Given the description of an element on the screen output the (x, y) to click on. 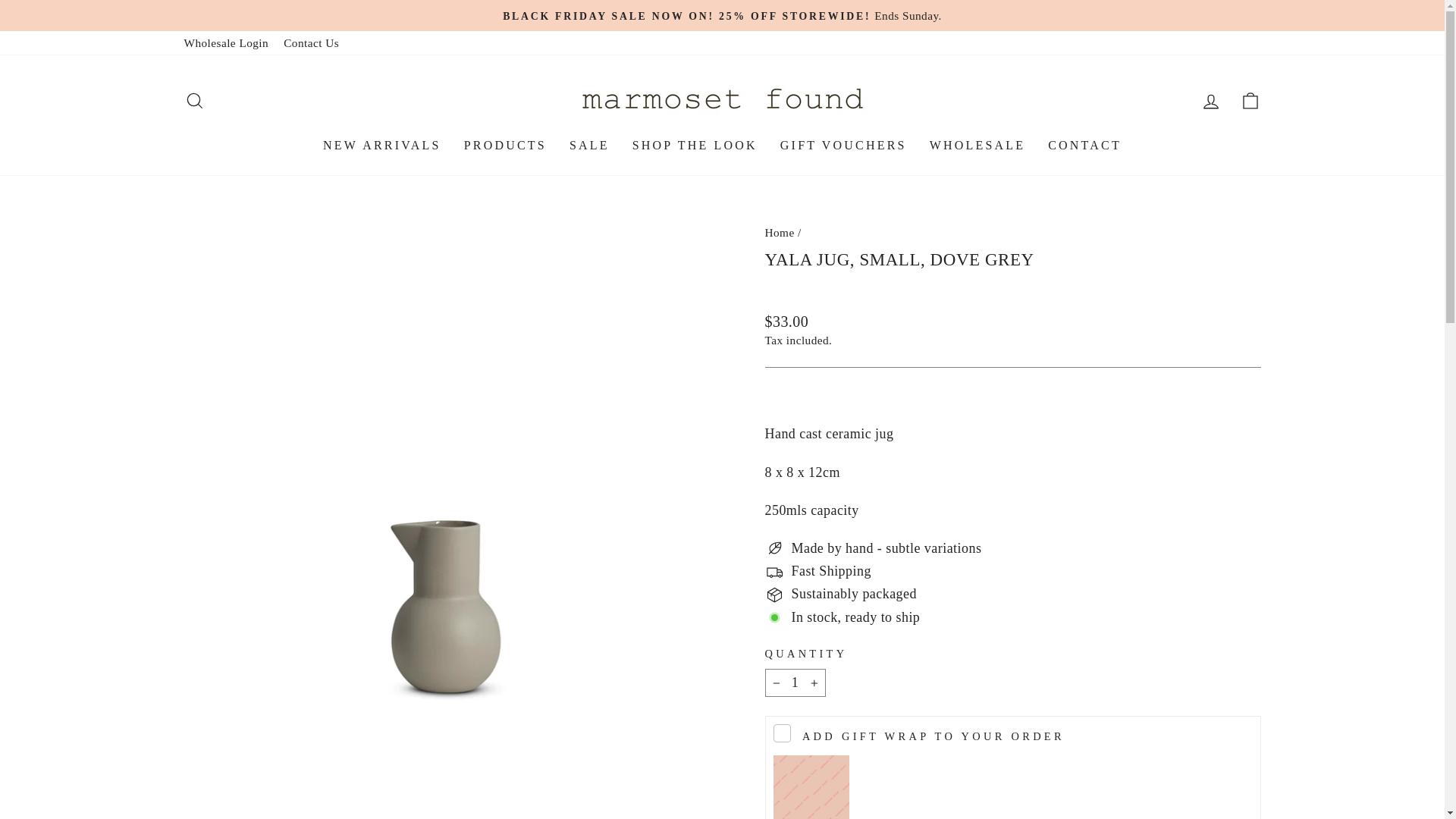
PRODUCTS Element type: text (505, 145)
GIFT VOUCHERS Element type: text (843, 145)
NEW ARRIVALS Element type: text (381, 145)
Wholesale Login Element type: text (225, 42)
SEARCH Element type: text (193, 100)
CART Element type: text (1249, 100)
WHOLESALE Element type: text (977, 145)
Home Element type: text (778, 231)
Skip to content Element type: text (0, 0)
SALE Element type: text (589, 145)
SHOP THE LOOK Element type: text (694, 145)
+ Element type: text (813, 682)
LOG IN Element type: text (1210, 100)
CONTACT Element type: text (1084, 145)
Contact Us Element type: text (311, 42)
